Given the description of an element on the screen output the (x, y) to click on. 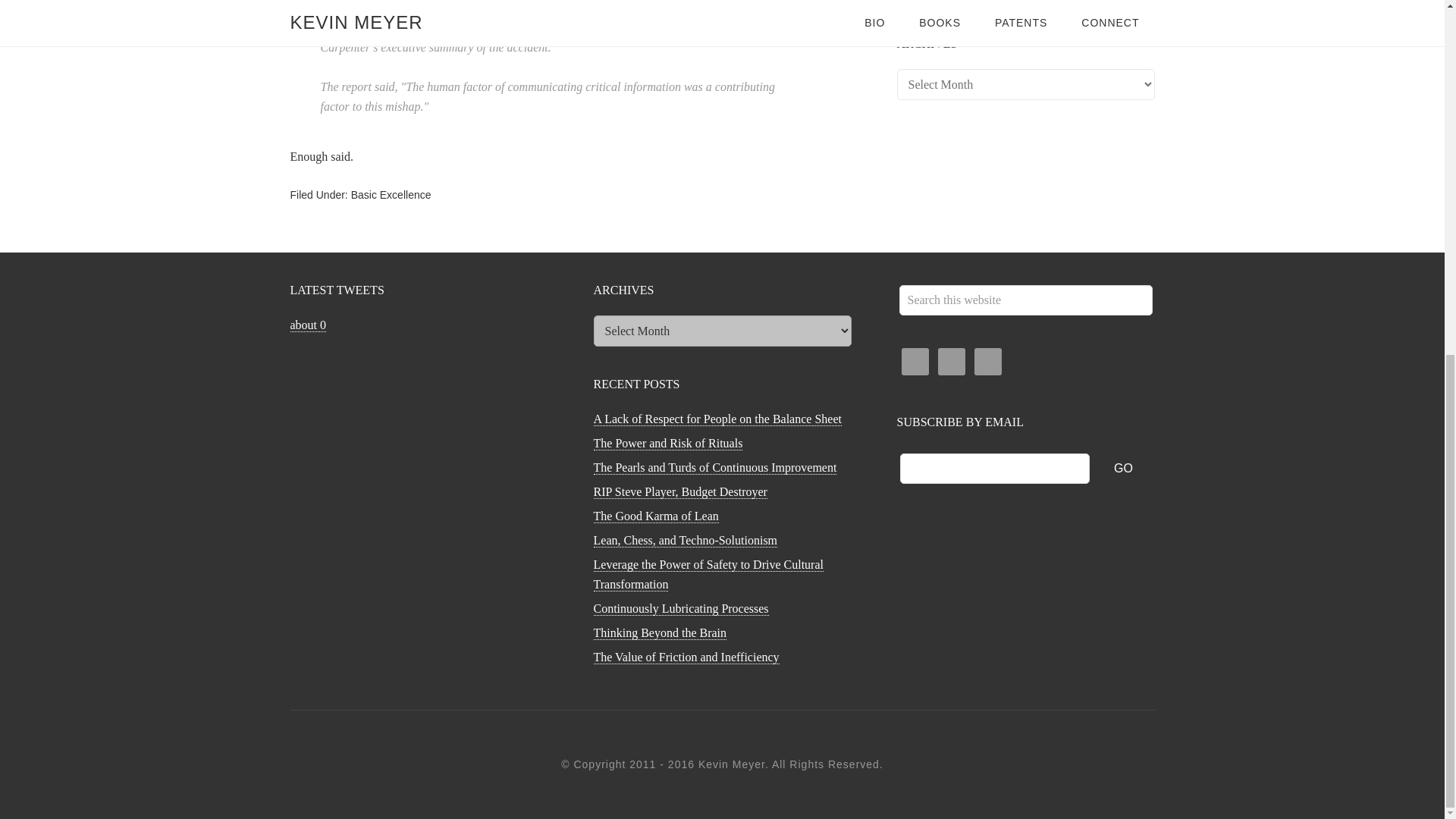
Basic Excellence (390, 194)
A Lack of Respect for People on the Balance Sheet (716, 418)
The Power and Risk of Rituals (667, 443)
Lean, Chess, and Techno-Solutionism (684, 540)
Go (1123, 468)
The Good Karma of Lean (654, 516)
The Value of Friction and Inefficiency (988, 1)
